Given the description of an element on the screen output the (x, y) to click on. 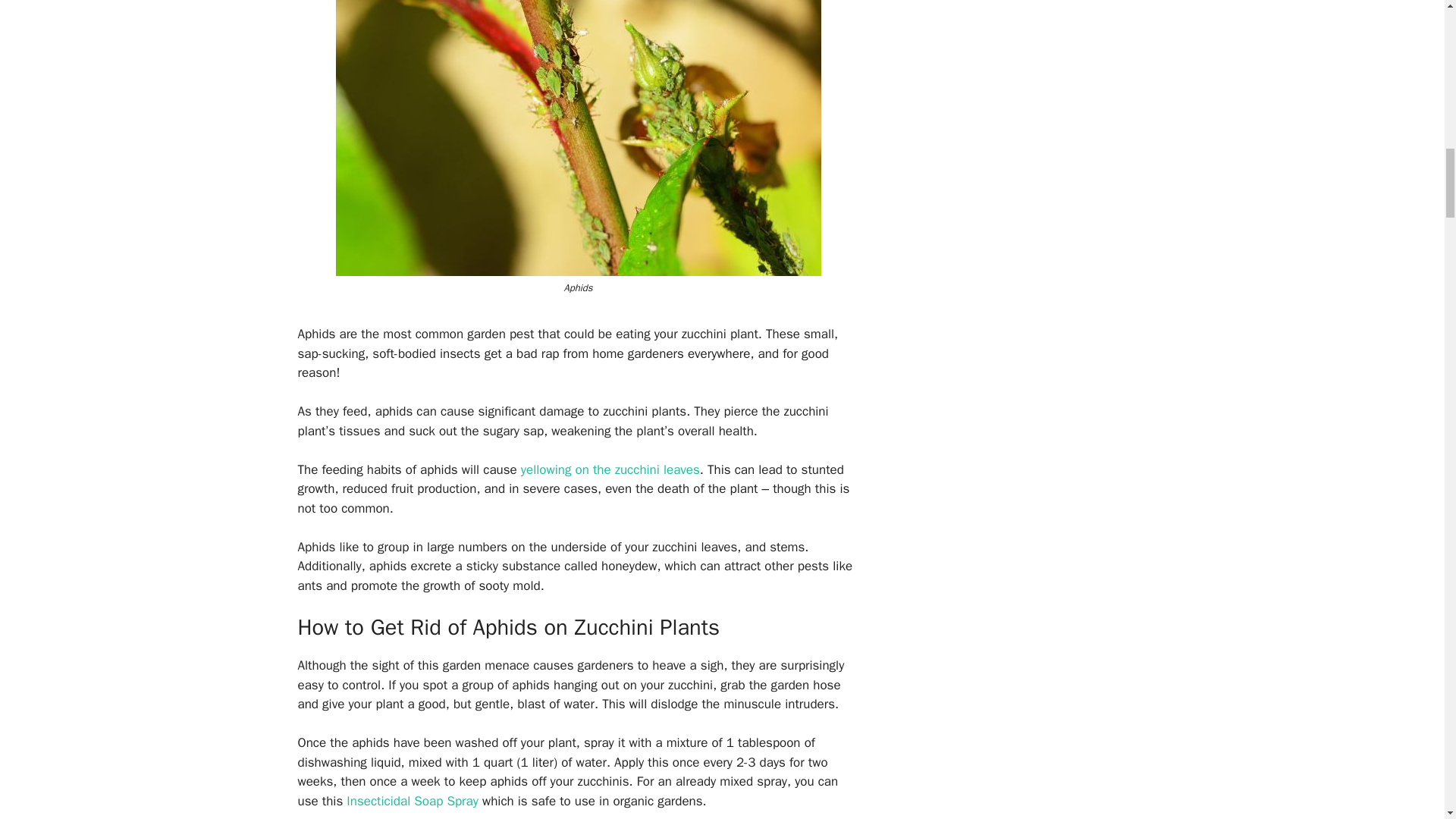
Insecticidal Soap Organic (411, 801)
